Given the description of an element on the screen output the (x, y) to click on. 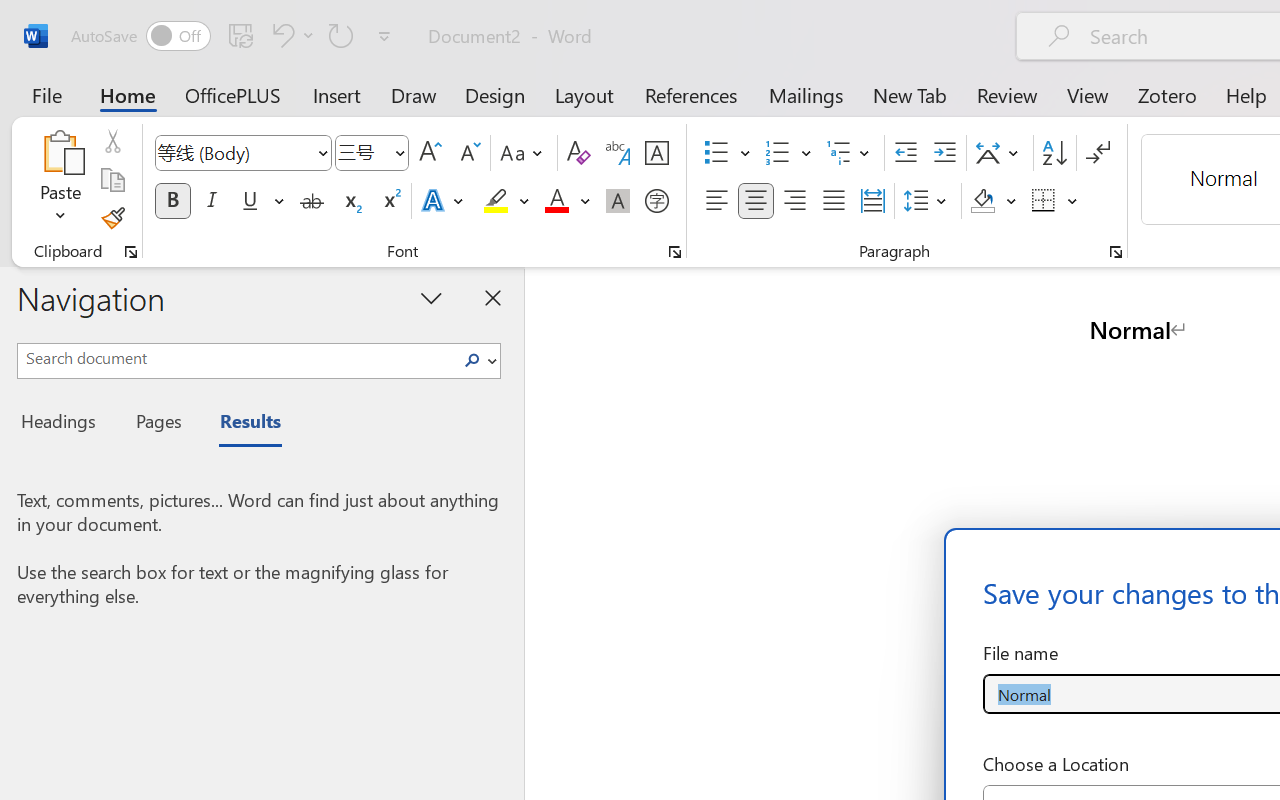
Decrease Indent (906, 153)
Bullets (716, 153)
Format Painter (112, 218)
Font Color (567, 201)
Insert (337, 94)
Distributed (872, 201)
Enclose Characters... (656, 201)
Sort... (1054, 153)
Numbering (778, 153)
Paragraph... (1115, 252)
Layout (584, 94)
Office Clipboard... (131, 252)
Align Right (794, 201)
Multilevel List (850, 153)
